Given the description of an element on the screen output the (x, y) to click on. 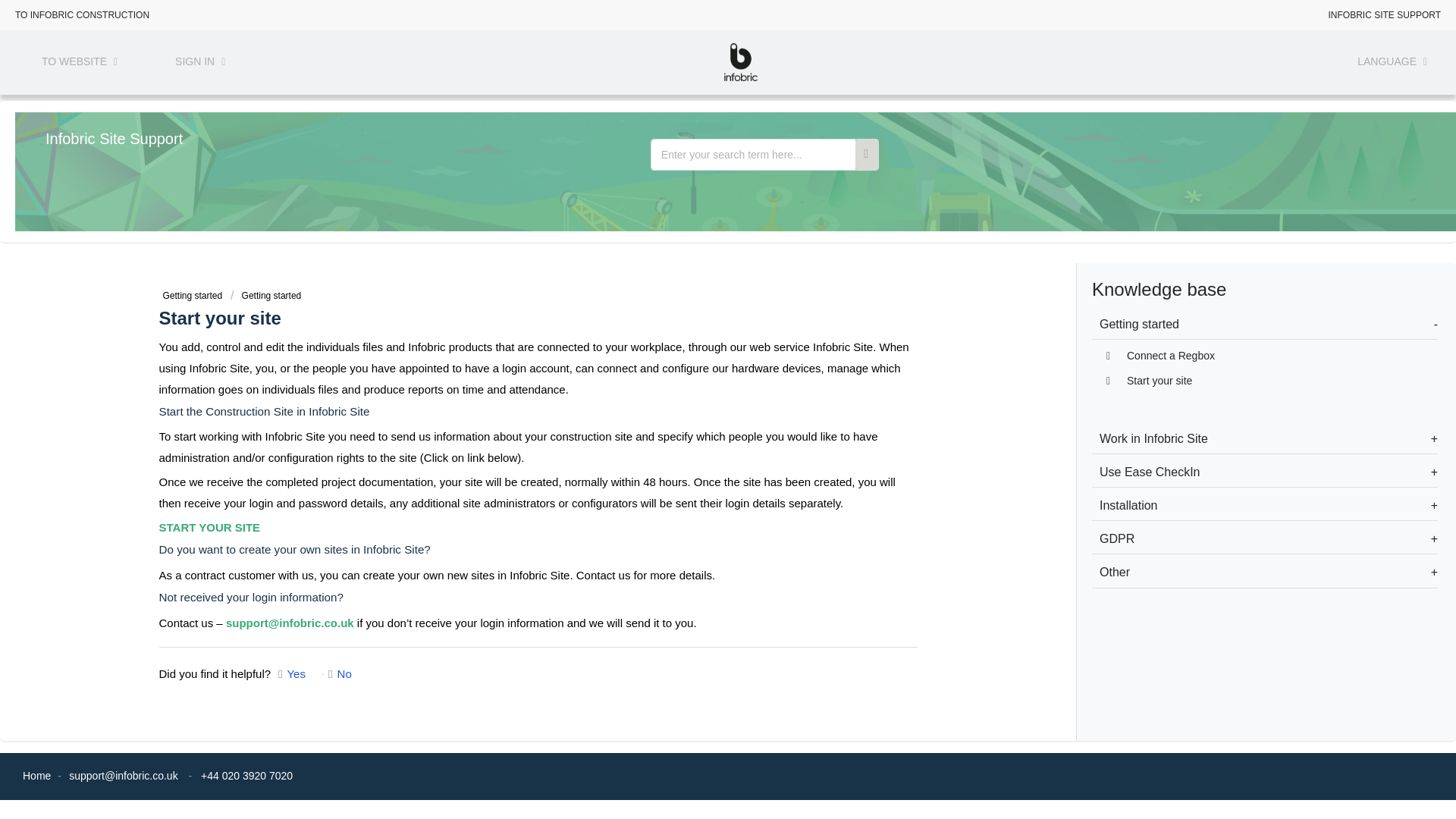
Getting started (191, 295)
Infobric Site Support (114, 139)
SIGN IN (200, 65)
INFOBRIC SITE SUPPORT (1384, 12)
LANGUAGE (1391, 65)
TO INFOBRIC CONSTRUCTION (81, 12)
TO WEBSITE (79, 65)
